Given the description of an element on the screen output the (x, y) to click on. 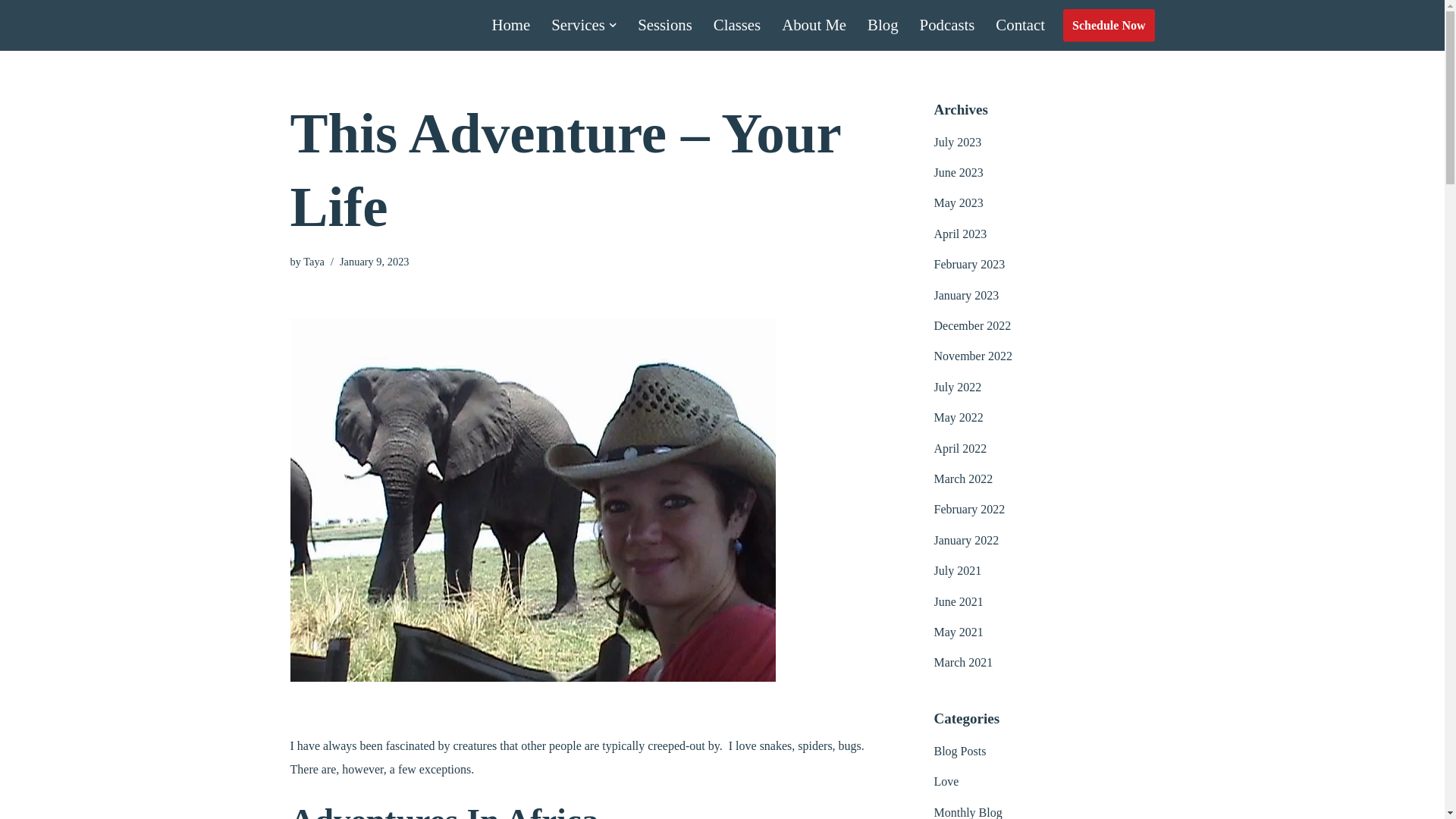
Taya (313, 261)
Contact (1020, 25)
Home (510, 25)
Sessions (665, 25)
About Me (813, 25)
Classes (736, 25)
Podcasts (947, 25)
Posts by Taya (313, 261)
Schedule Now (1108, 25)
Blog (882, 25)
Skip to content (11, 31)
Services (577, 25)
